Given the description of an element on the screen output the (x, y) to click on. 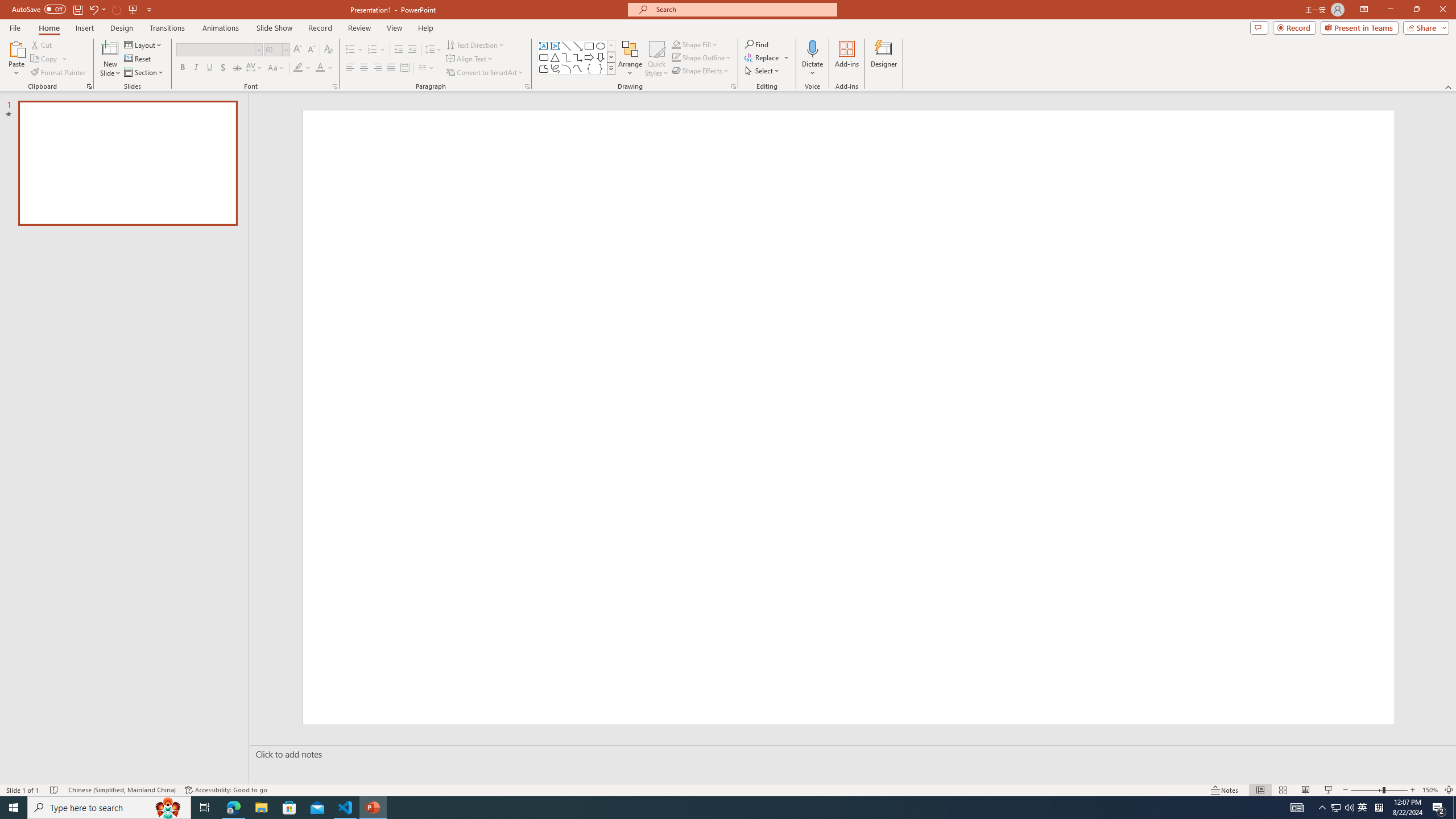
Microsoft search (742, 9)
Underline (209, 67)
Zoom 150% (1430, 790)
Right Brace (600, 68)
Copy (49, 58)
Line Arrow (577, 45)
Dictate (812, 58)
Clear Formatting (327, 49)
Strikethrough (237, 67)
Align Left (349, 67)
Open (285, 49)
